Given the description of an element on the screen output the (x, y) to click on. 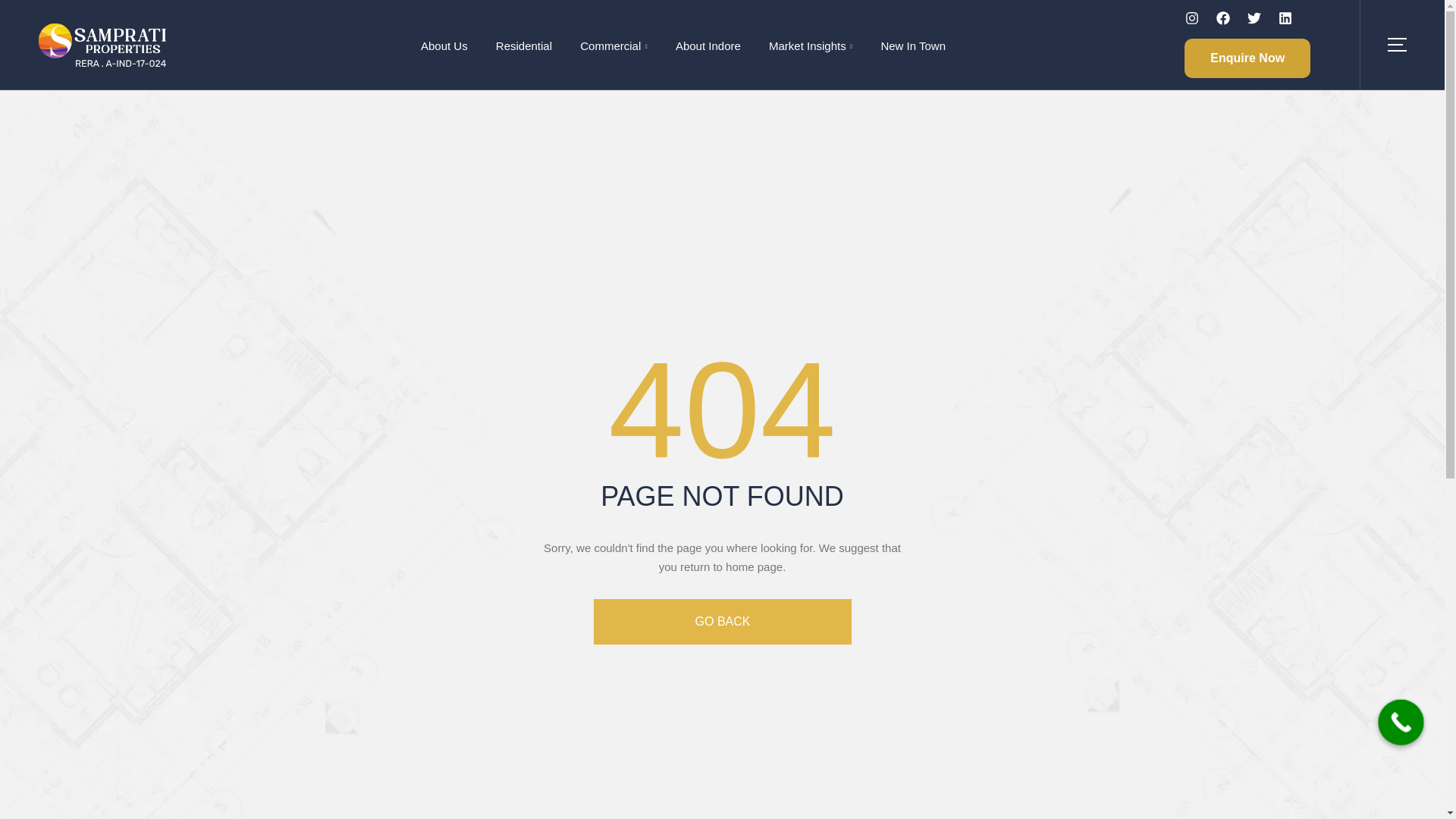
New In Town (905, 45)
About Us (443, 45)
About Indore (707, 45)
Commercial (614, 45)
GO BACK (721, 621)
Residential (523, 45)
Enquire Now (1247, 57)
Market Insights (810, 45)
